Given the description of an element on the screen output the (x, y) to click on. 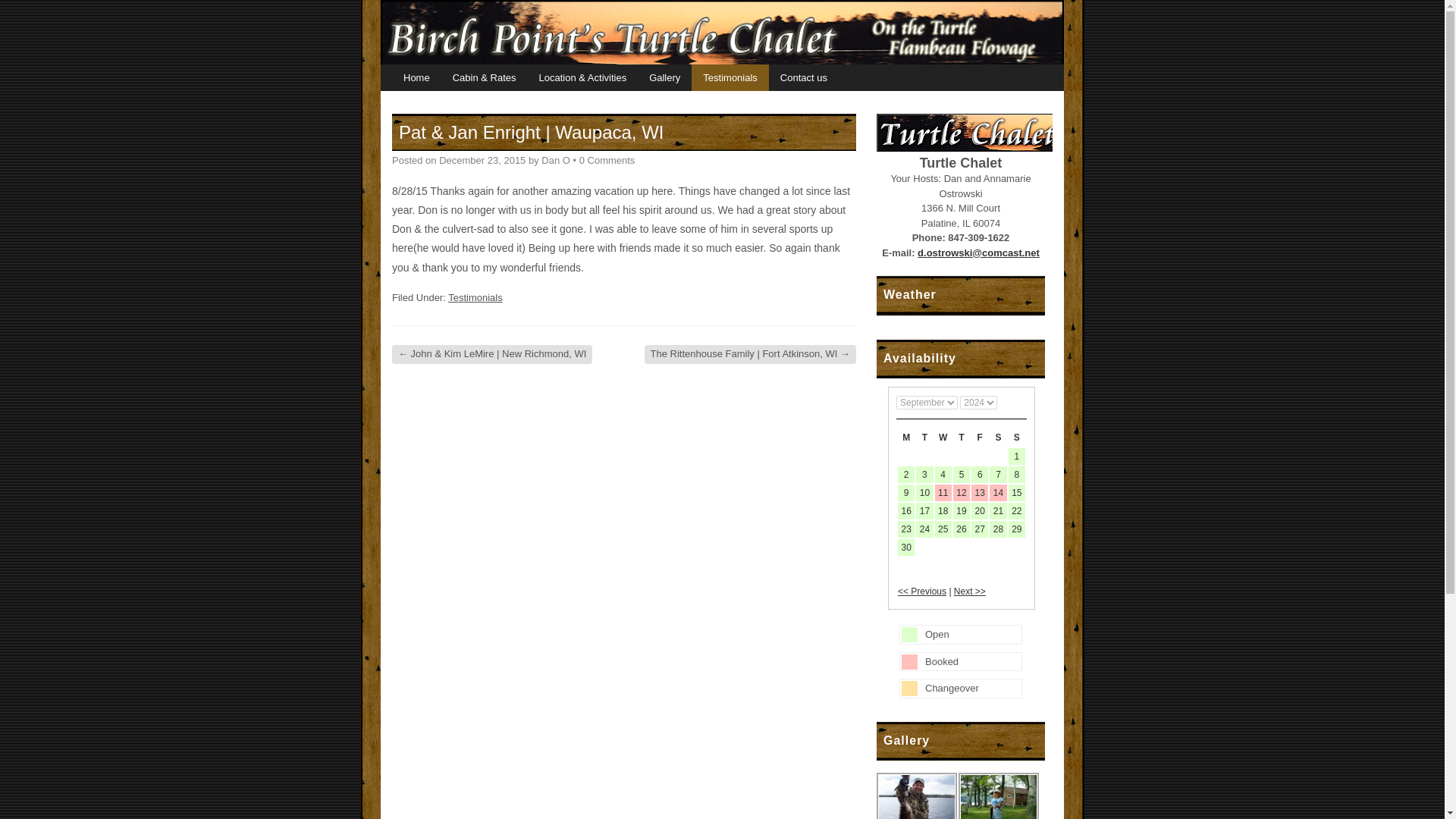
Turtle Flowage over 4lb Smallie (916, 796)
View all posts by Dan O (555, 160)
Turtle Chalet-Nice Walleye (998, 796)
Testimonials (475, 297)
Gallery (664, 77)
Contact us (803, 77)
Testimonials (729, 77)
0 Comments (606, 160)
Home (416, 77)
Dan O (555, 160)
